Given the description of an element on the screen output the (x, y) to click on. 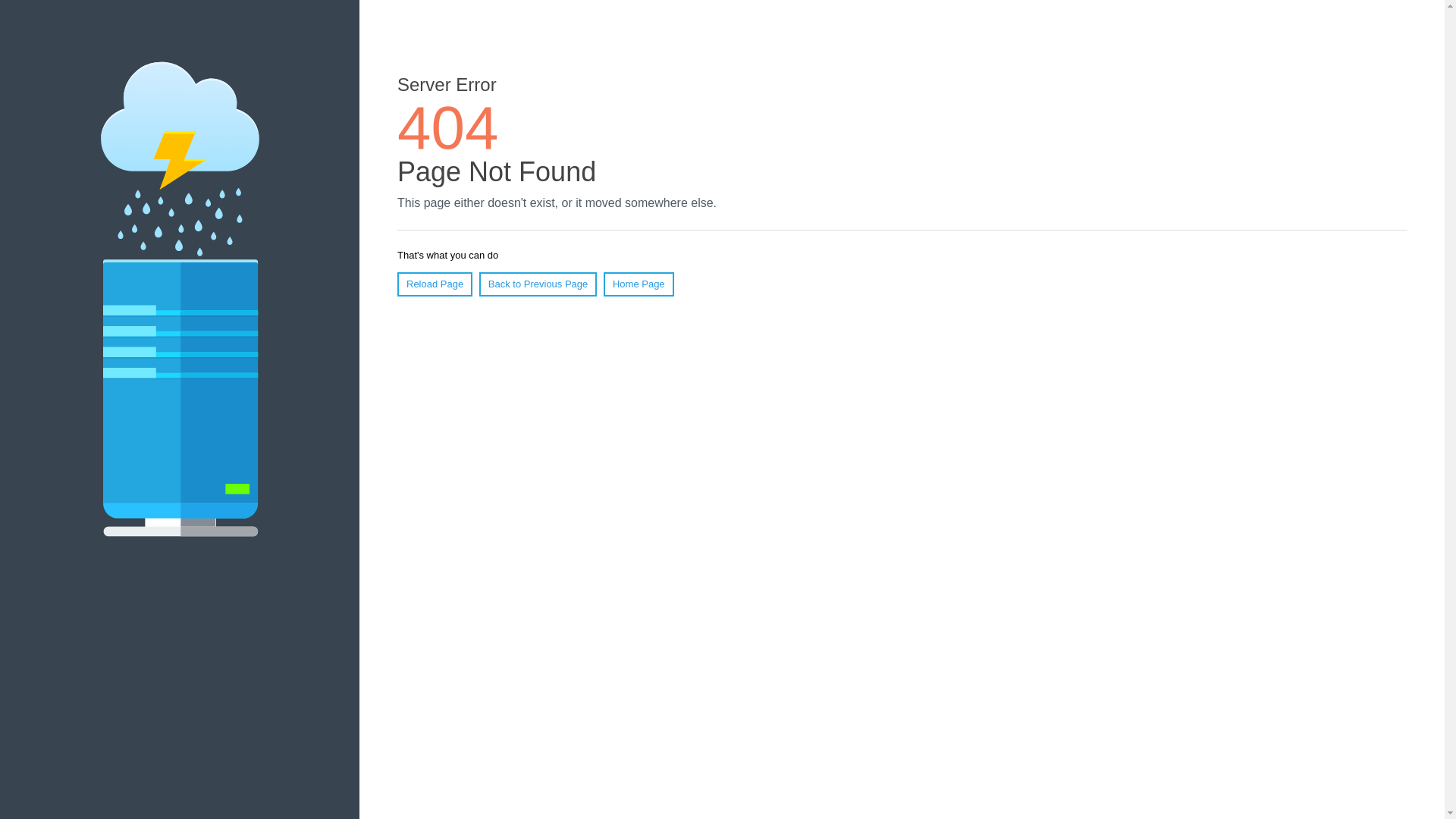
Home Page (639, 283)
Back to Previous Page (537, 283)
Reload Page (434, 283)
